Given the description of an element on the screen output the (x, y) to click on. 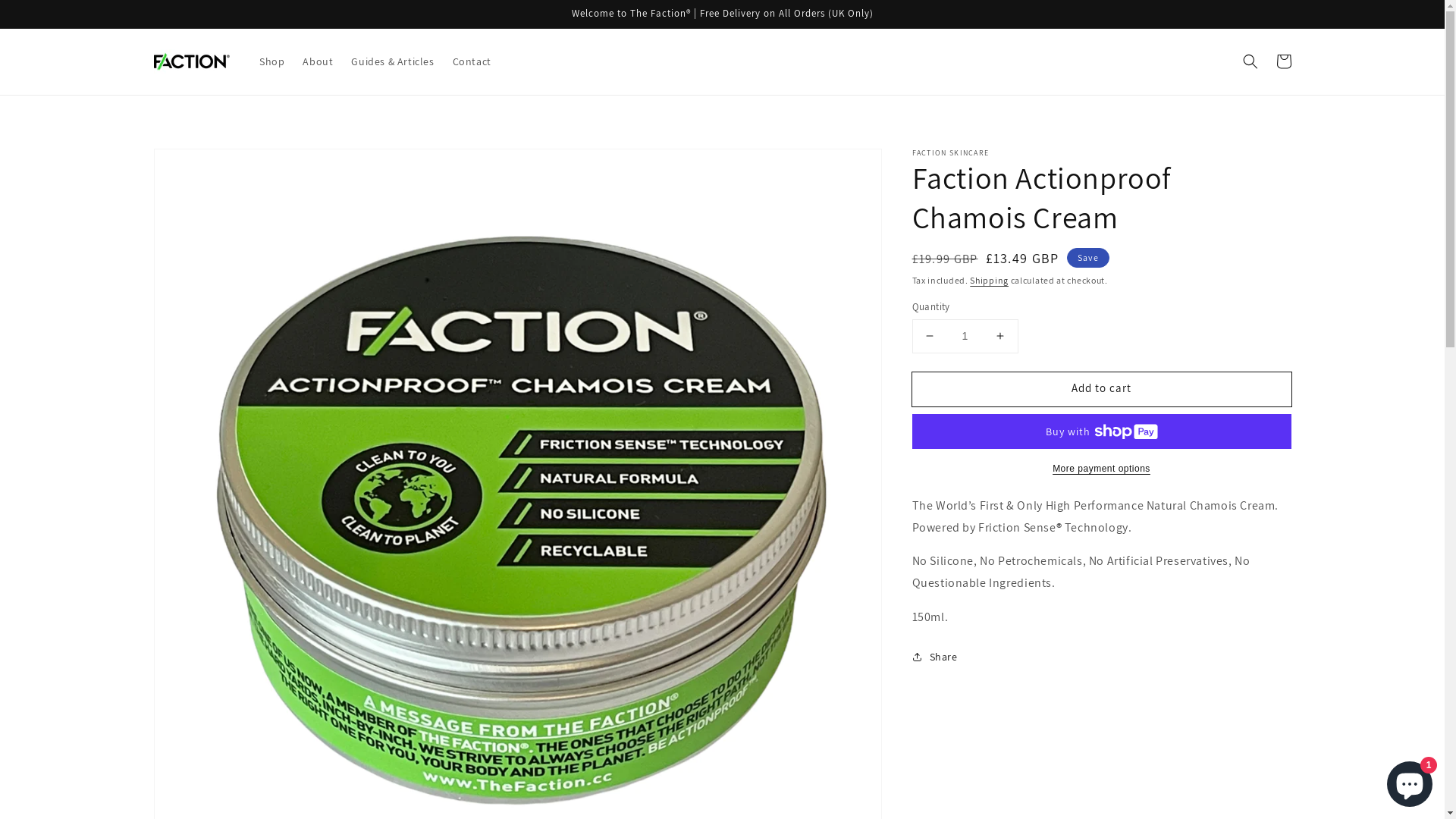
Shopify online store chat Element type: hover (1409, 780)
About Element type: text (317, 61)
Skip to product information Element type: text (198, 164)
Increase quantity for Faction Actionproof Chamois Cream Element type: text (999, 336)
Contact Element type: text (471, 61)
Decrease quantity for Faction Actionproof Chamois Cream Element type: text (930, 336)
Guides & Articles Element type: text (392, 61)
Shop Element type: text (271, 61)
Add to cart Element type: text (1100, 389)
More payment options Element type: text (1100, 468)
Shipping Element type: text (988, 279)
Cart Element type: text (1282, 61)
